Given the description of an element on the screen output the (x, y) to click on. 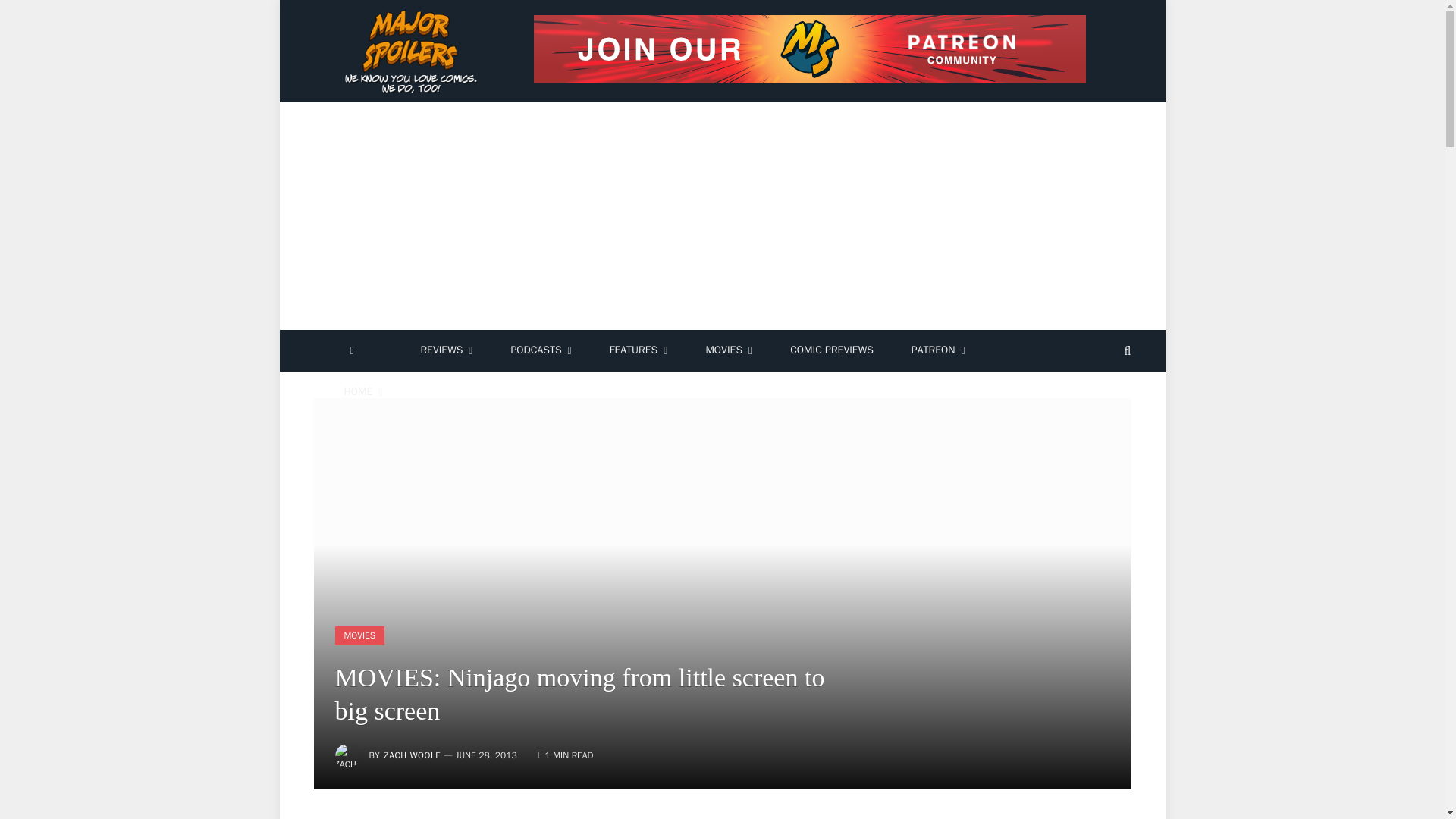
Posts by Zach Woolf (411, 755)
HOME (362, 392)
Major Spoilers (412, 51)
REVIEWS (446, 350)
PODCASTS (540, 350)
